Given the description of an element on the screen output the (x, y) to click on. 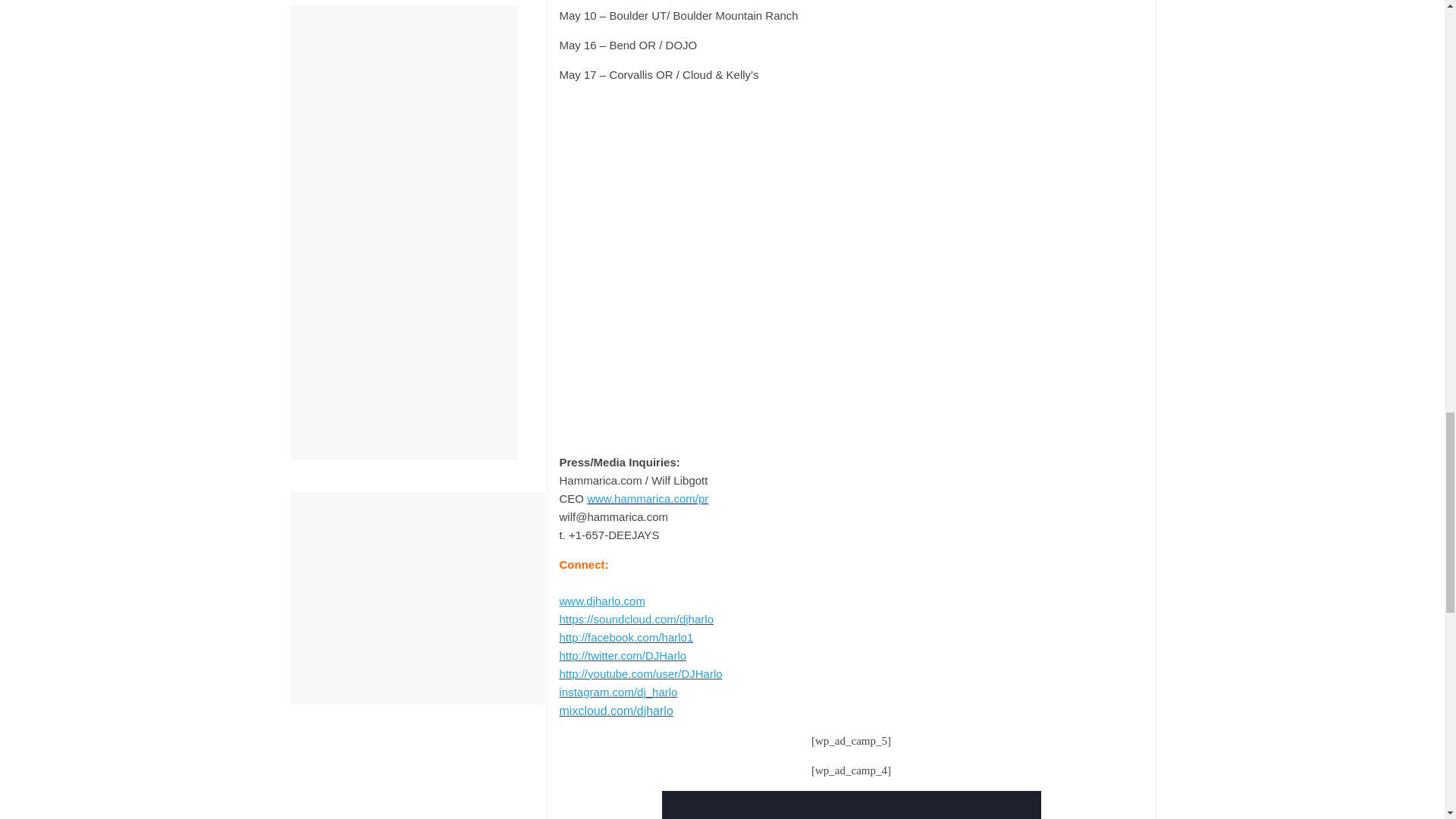
Loopcloud Music App from Loopmasters.com (851, 805)
DJ Harlo (602, 601)
www.djharlo.com (602, 601)
